Given the description of an element on the screen output the (x, y) to click on. 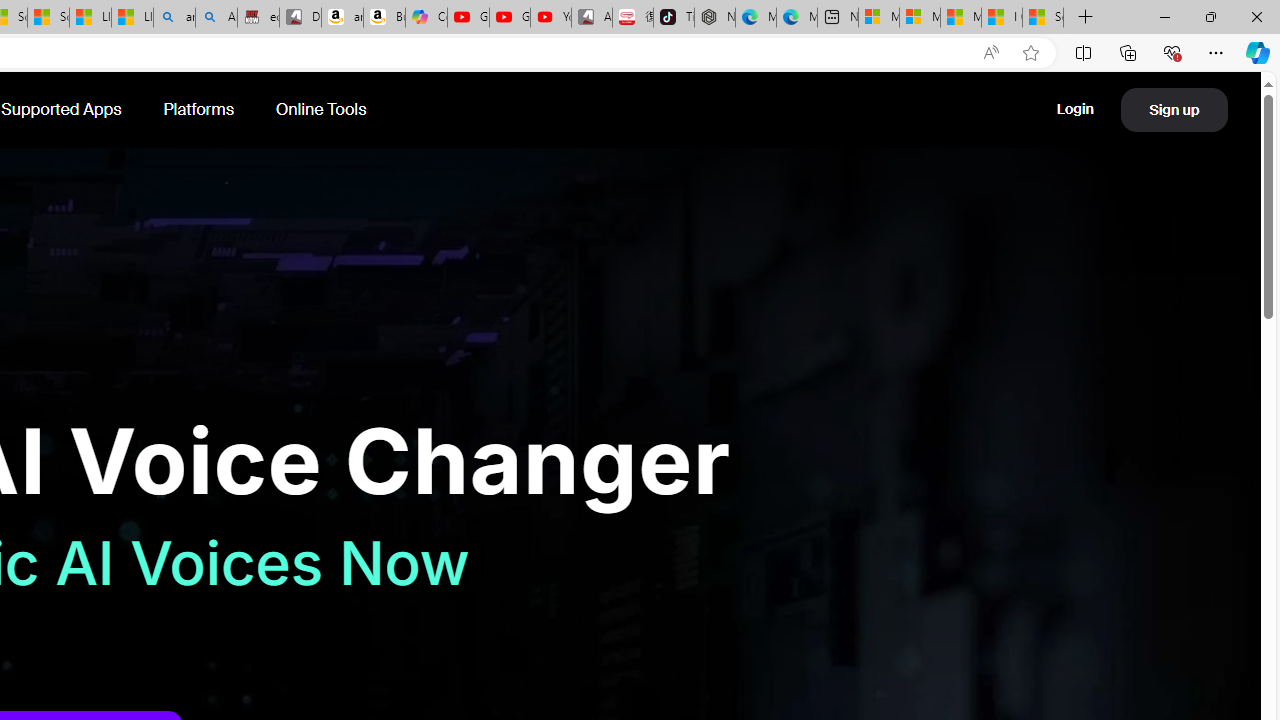
Copilot (425, 17)
Platforms  (200, 109)
Sign up (1174, 109)
I Gained 20 Pounds of Muscle in 30 Days! | Watch (1001, 17)
